Given the description of an element on the screen output the (x, y) to click on. 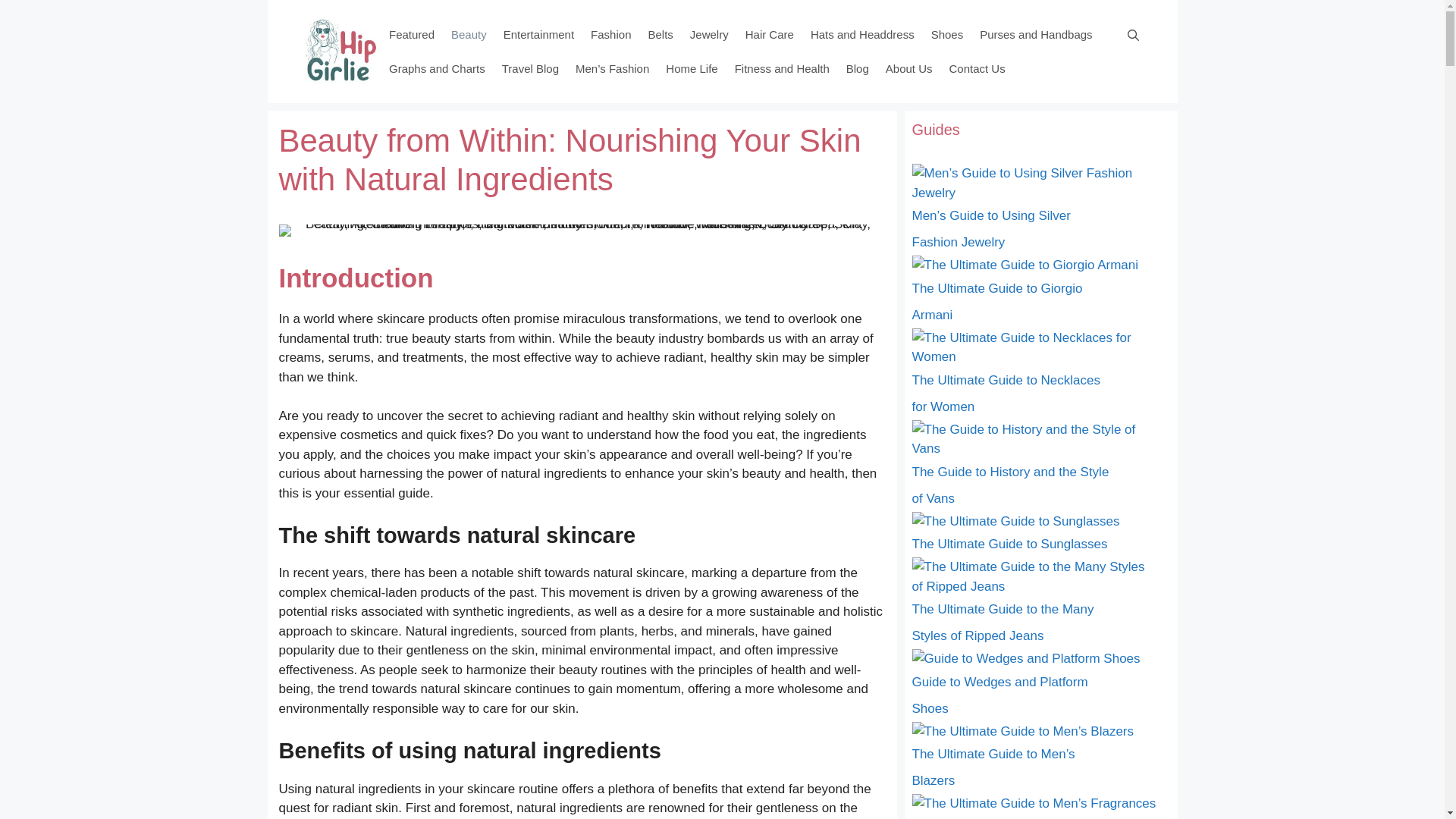
Contact Us (976, 68)
The Guide to History and the Style of Vans (1009, 485)
Belts (660, 34)
Shoes (947, 34)
Home Life (691, 68)
The Ultimate Guide to Necklaces for Women (1005, 393)
The Ultimate Guide to Sunglasses (1008, 544)
The Ultimate Guide to Necklaces for Women (1034, 347)
The Guide to History and the Style of Vans (1009, 485)
Fashion (610, 34)
The Ultimate Guide to the Many Styles of Ripped Jeans (1002, 621)
The Guide to History and the Style of Vans (1034, 439)
Purses and Handbags (1035, 34)
The Ultimate Guide to Giorgio Armani (996, 301)
The Ultimate Guide to the Many Styles of Ripped Jeans (1034, 576)
